Given the description of an element on the screen output the (x, y) to click on. 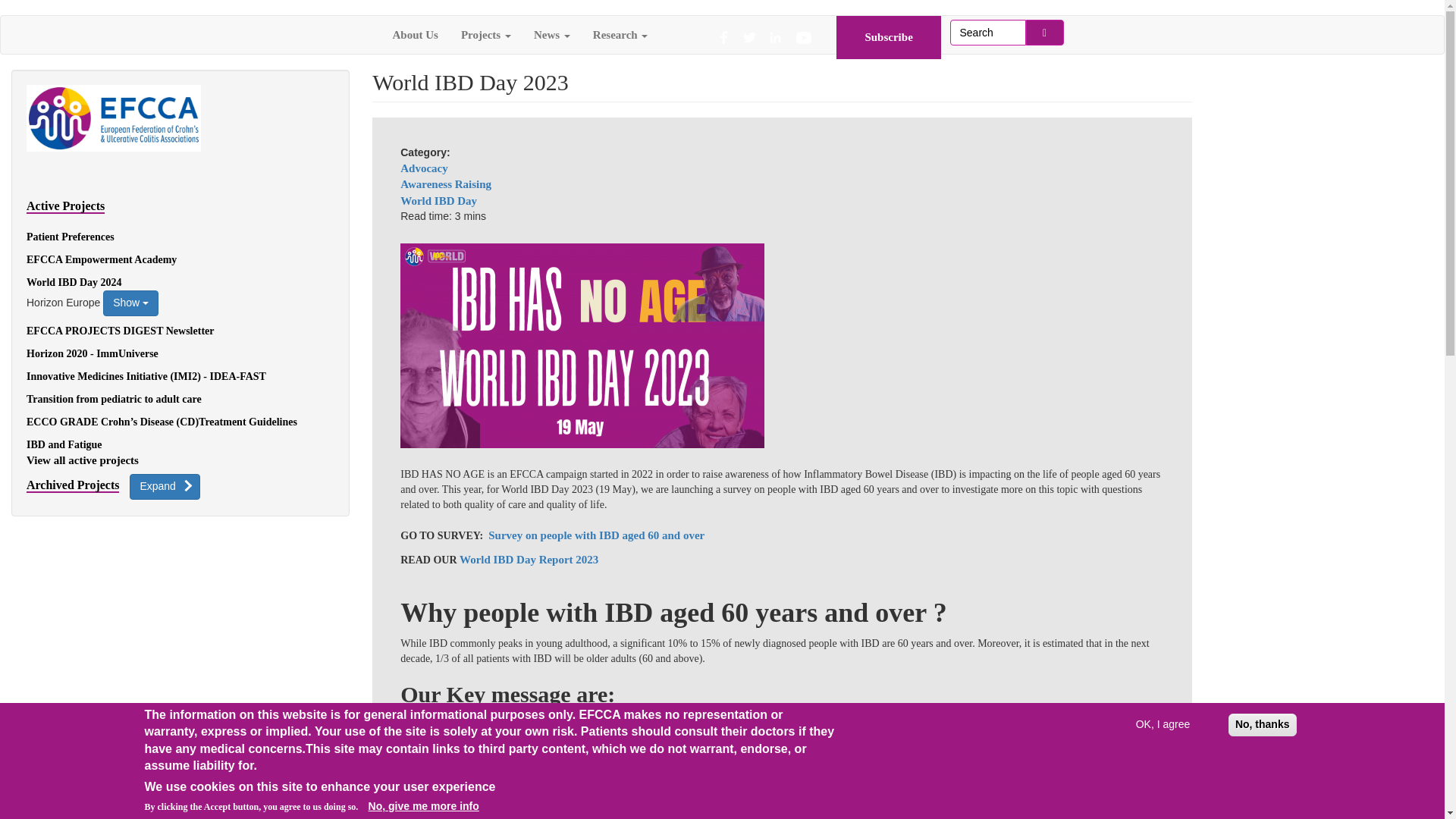
World IBD Day 2024 (74, 282)
About Us (414, 34)
News (551, 34)
Projects (485, 34)
Show (130, 303)
Active Projects (65, 206)
Enter the terms you wish to search for. (987, 32)
Research (619, 34)
Subscribe (888, 37)
Patient Preferences (70, 237)
EFCCA Empowerment Academy (101, 259)
